Given the description of an element on the screen output the (x, y) to click on. 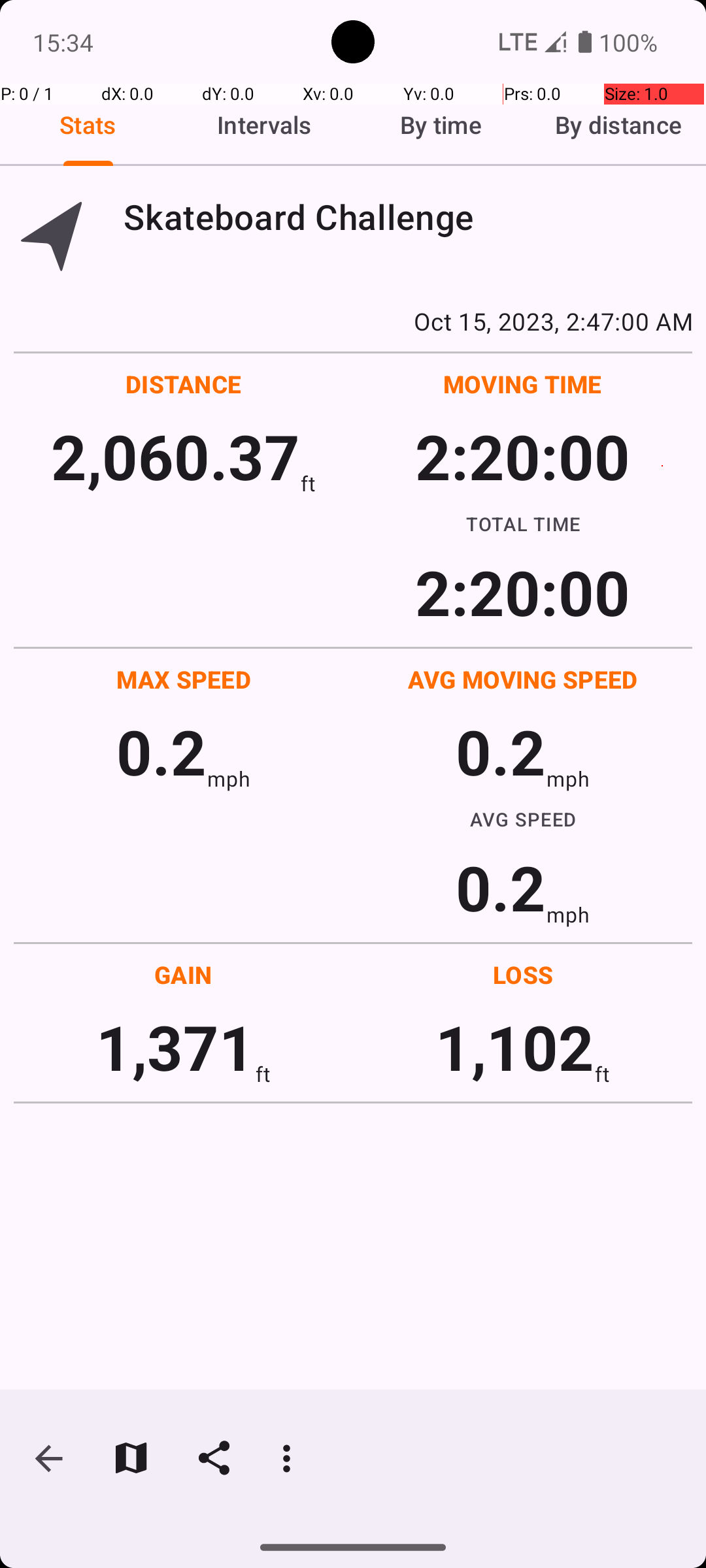
Skateboard Challenge Element type: android.widget.TextView (407, 216)
Oct 15, 2023, 2:47:00 AM Element type: android.widget.TextView (352, 320)
2,060.37 Element type: android.widget.TextView (175, 455)
2:20:00 Element type: android.widget.TextView (522, 455)
0.2 Element type: android.widget.TextView (161, 750)
1,371 Element type: android.widget.TextView (175, 1045)
1,102 Element type: android.widget.TextView (514, 1045)
